Given the description of an element on the screen output the (x, y) to click on. 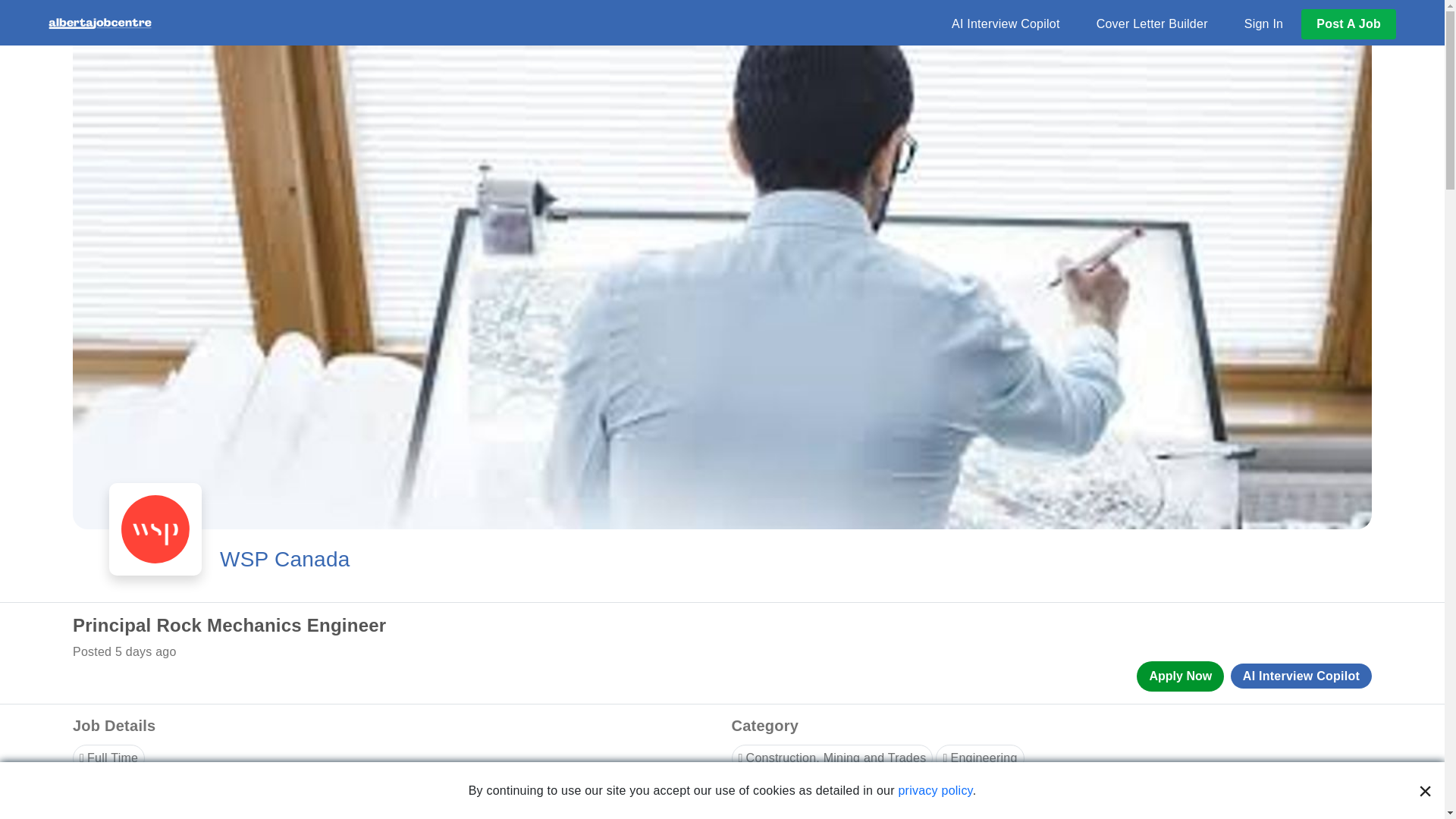
Engineering (979, 758)
Apply Now (1180, 675)
AI Interview Copilot (1005, 24)
WSP Canada (284, 559)
Post A Job (1348, 23)
WSP Canada (284, 559)
AI Interview Copilot (1300, 675)
privacy policy (935, 789)
Construction, Mining and Trades (831, 758)
Principal Rock Mechanics Engineer (739, 626)
Full Time (108, 758)
Cover Letter Builder (1152, 24)
